Given the description of an element on the screen output the (x, y) to click on. 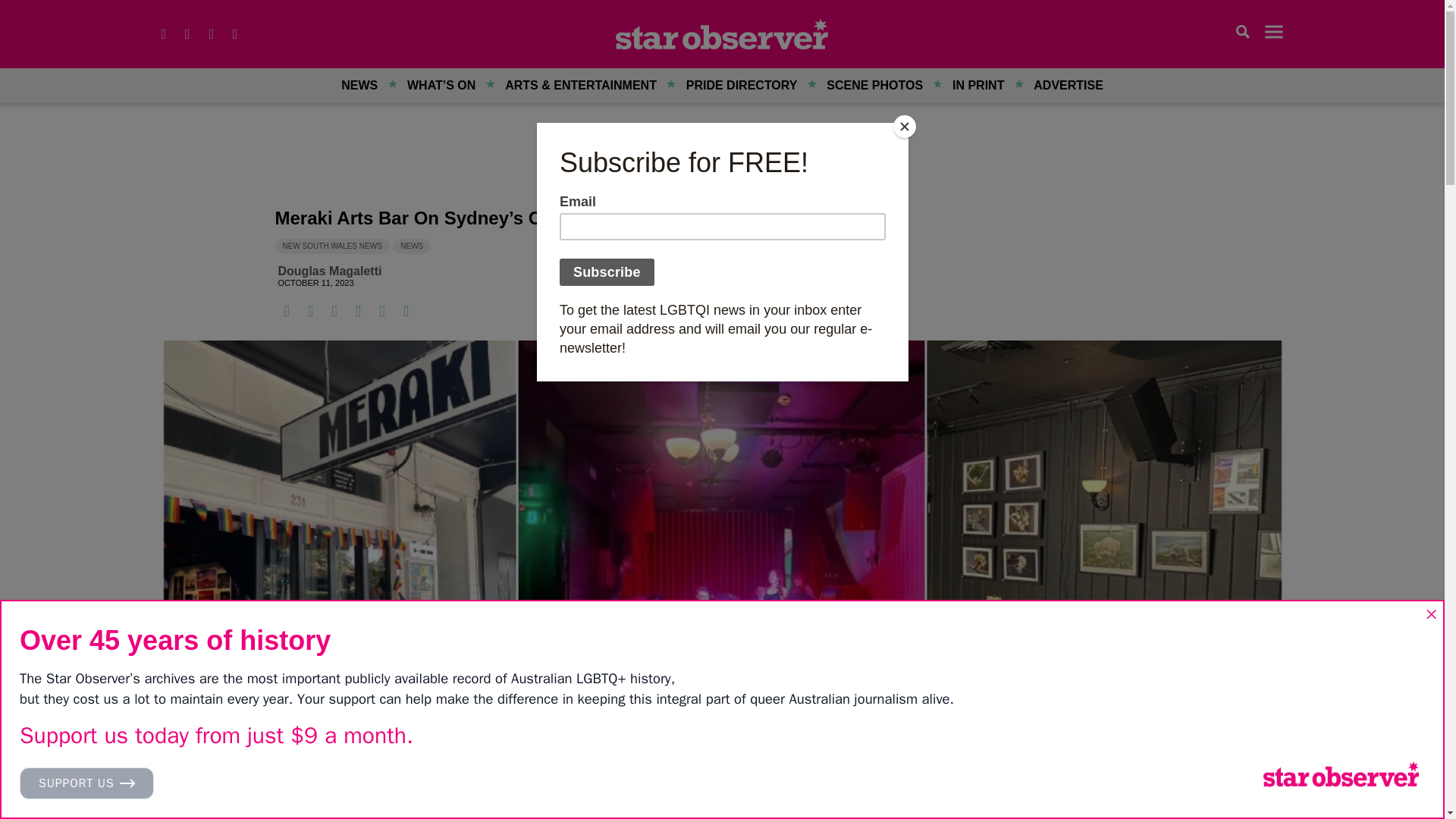
SCENE PHOTOS (874, 85)
NEWS (359, 85)
PRIDE DIRECTORY (742, 85)
3rd party ad content (722, 160)
IN PRINT (977, 85)
ADVERTISE (1068, 85)
